Given the description of an element on the screen output the (x, y) to click on. 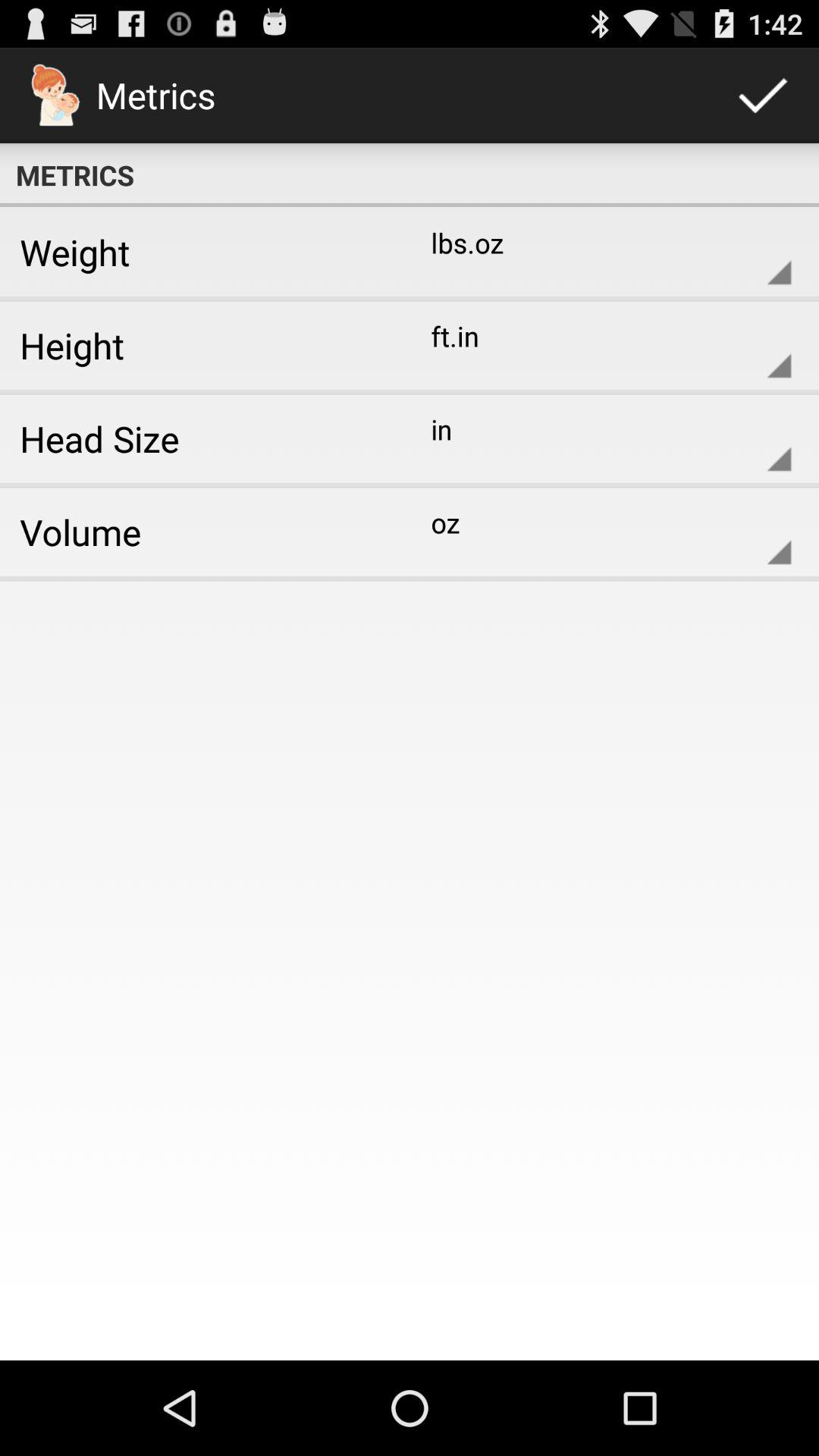
select app to the right of metrics icon (763, 95)
